Given the description of an element on the screen output the (x, y) to click on. 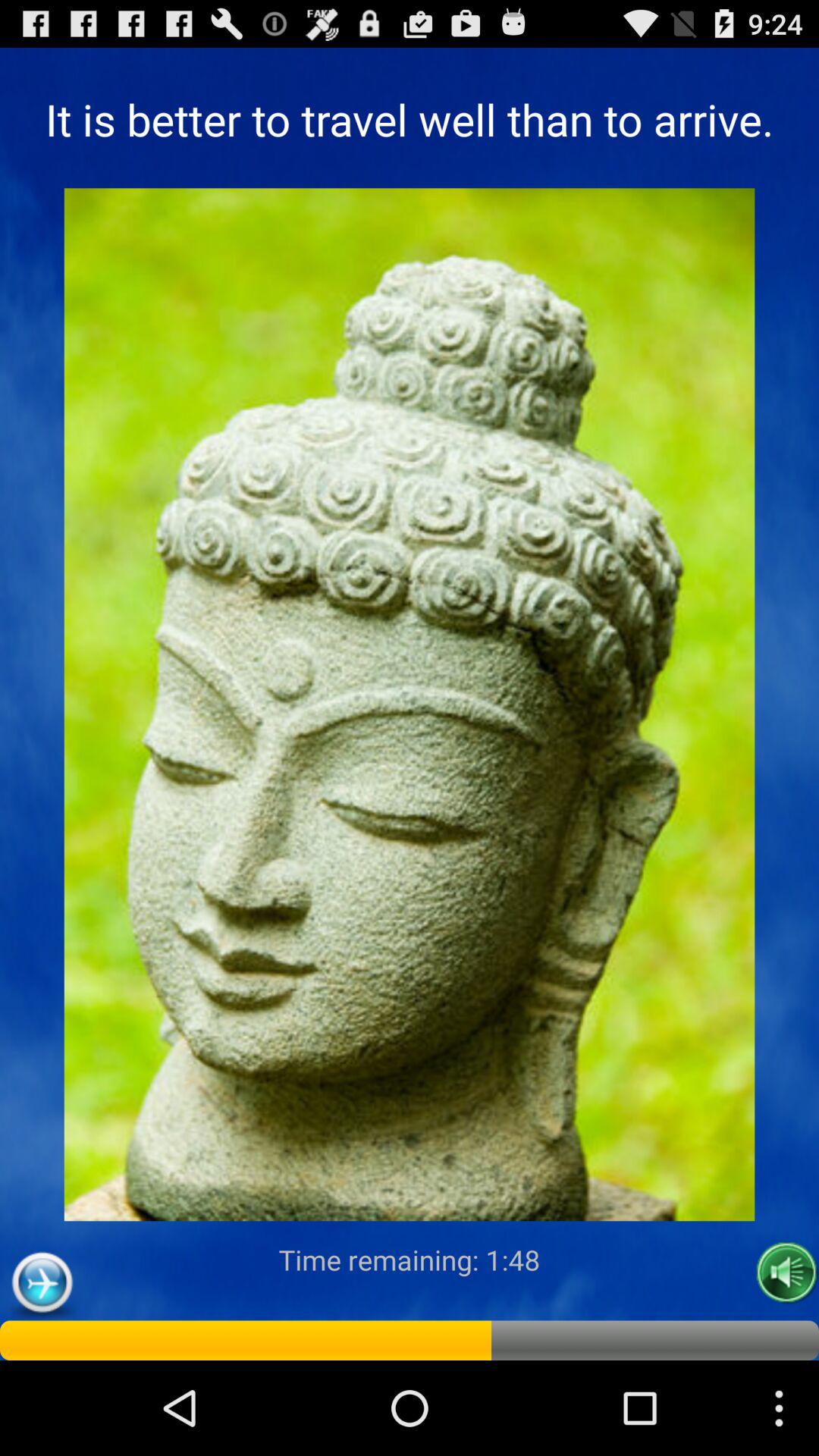
click the app next to the time remaining 1 icon (42, 1283)
